Given the description of an element on the screen output the (x, y) to click on. 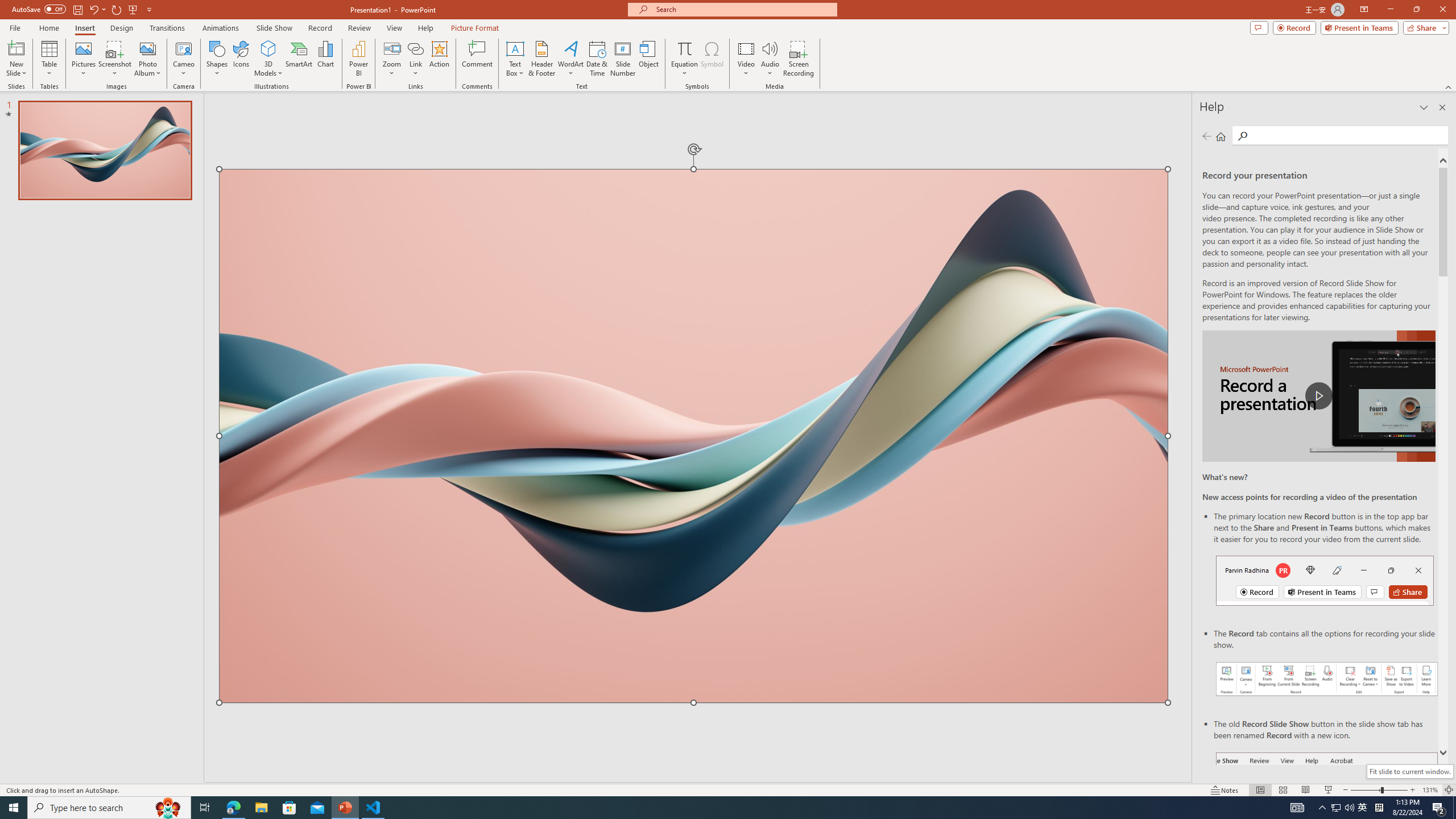
Wavy 3D art (693, 435)
Photo Album... (147, 58)
